Given the description of an element on the screen output the (x, y) to click on. 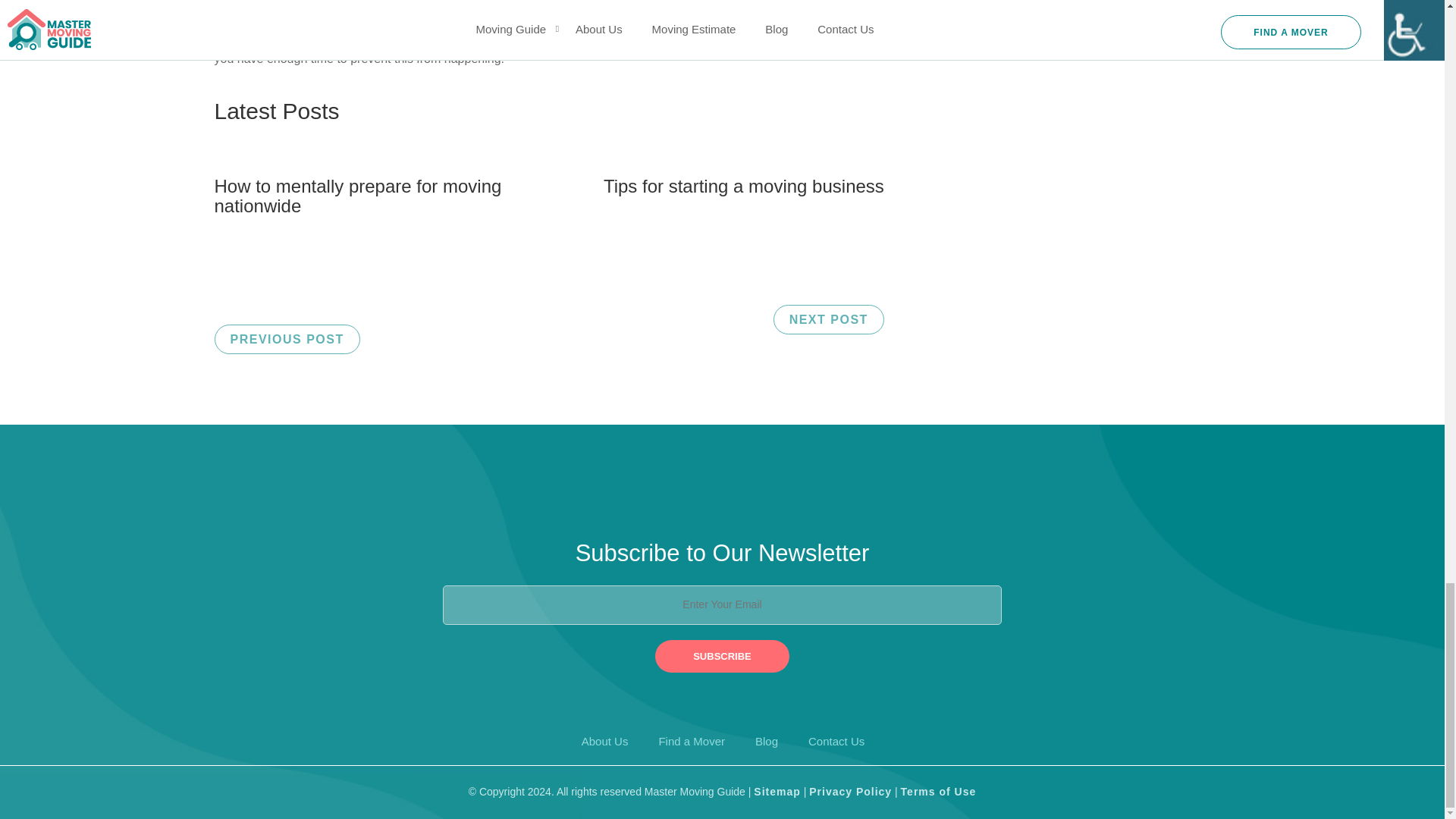
subscribe (722, 655)
